Given the description of an element on the screen output the (x, y) to click on. 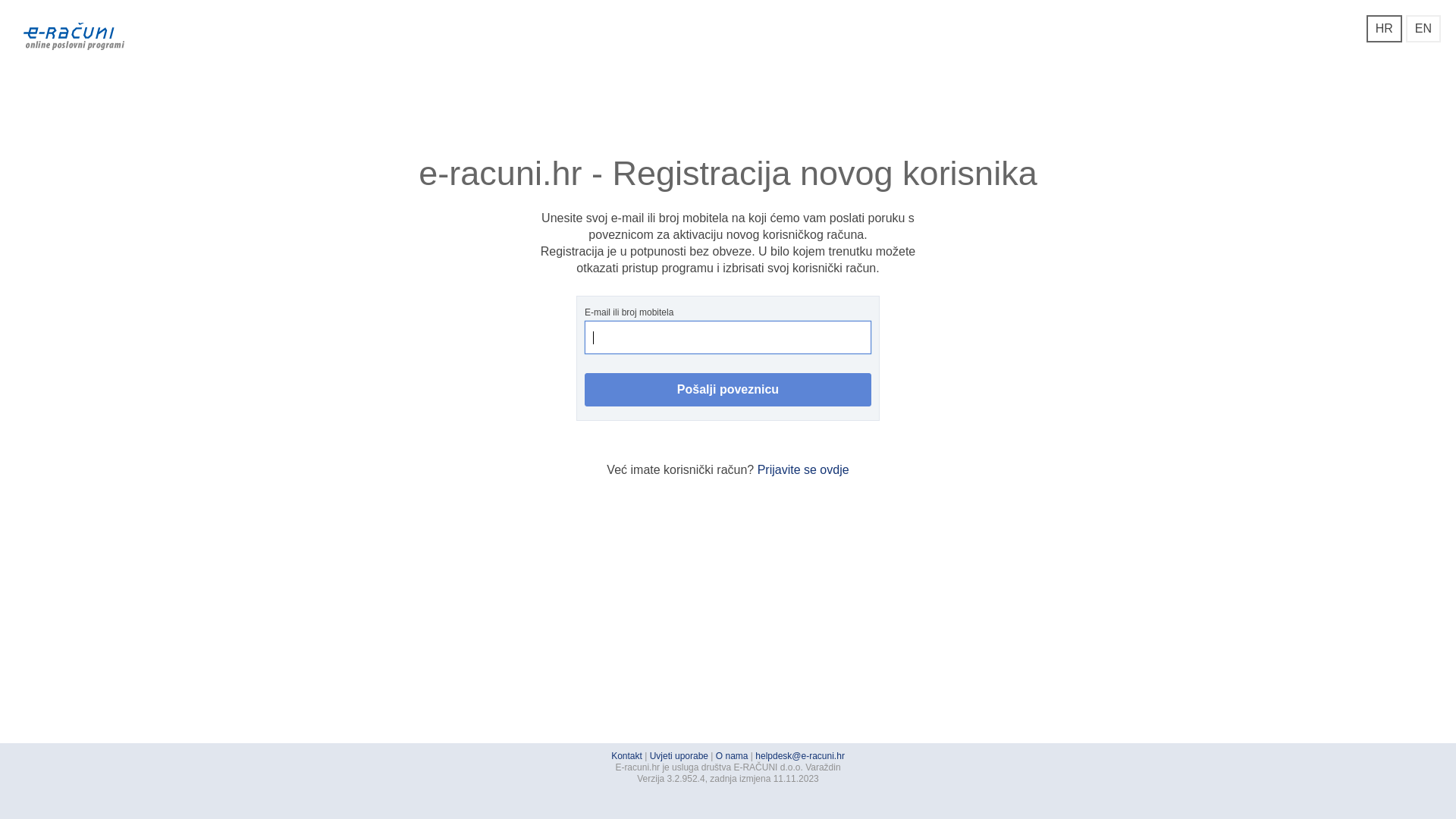
O nama Element type: text (731, 755)
EN Element type: text (1422, 28)
HR Element type: text (1384, 28)
Prijavite se ovdje Element type: text (803, 469)
Kontakt Element type: text (626, 755)
Uvjeti uporabe Element type: text (678, 755)
helpdesk@e-racuni.hr Element type: text (799, 755)
